Given the description of an element on the screen output the (x, y) to click on. 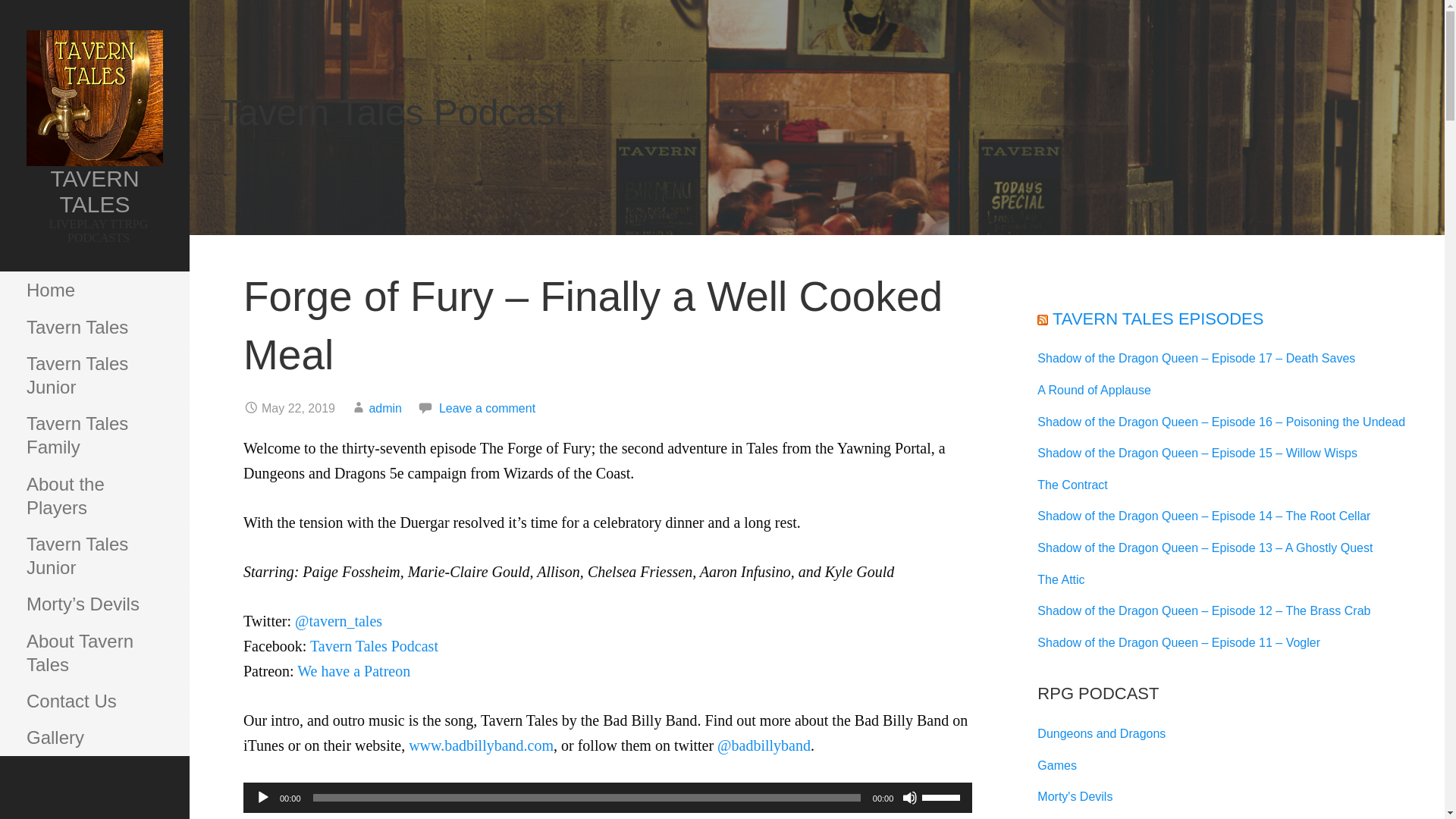
Tavern Tales Junior (94, 375)
Download (464, 817)
Tavern Tales (94, 327)
Posts by admin (384, 408)
Home (94, 289)
TAVERN TALES (93, 191)
About the Players (94, 496)
Mute (909, 797)
Play in new window (360, 817)
Tavern Tales Family (94, 435)
Play (263, 797)
